Given the description of an element on the screen output the (x, y) to click on. 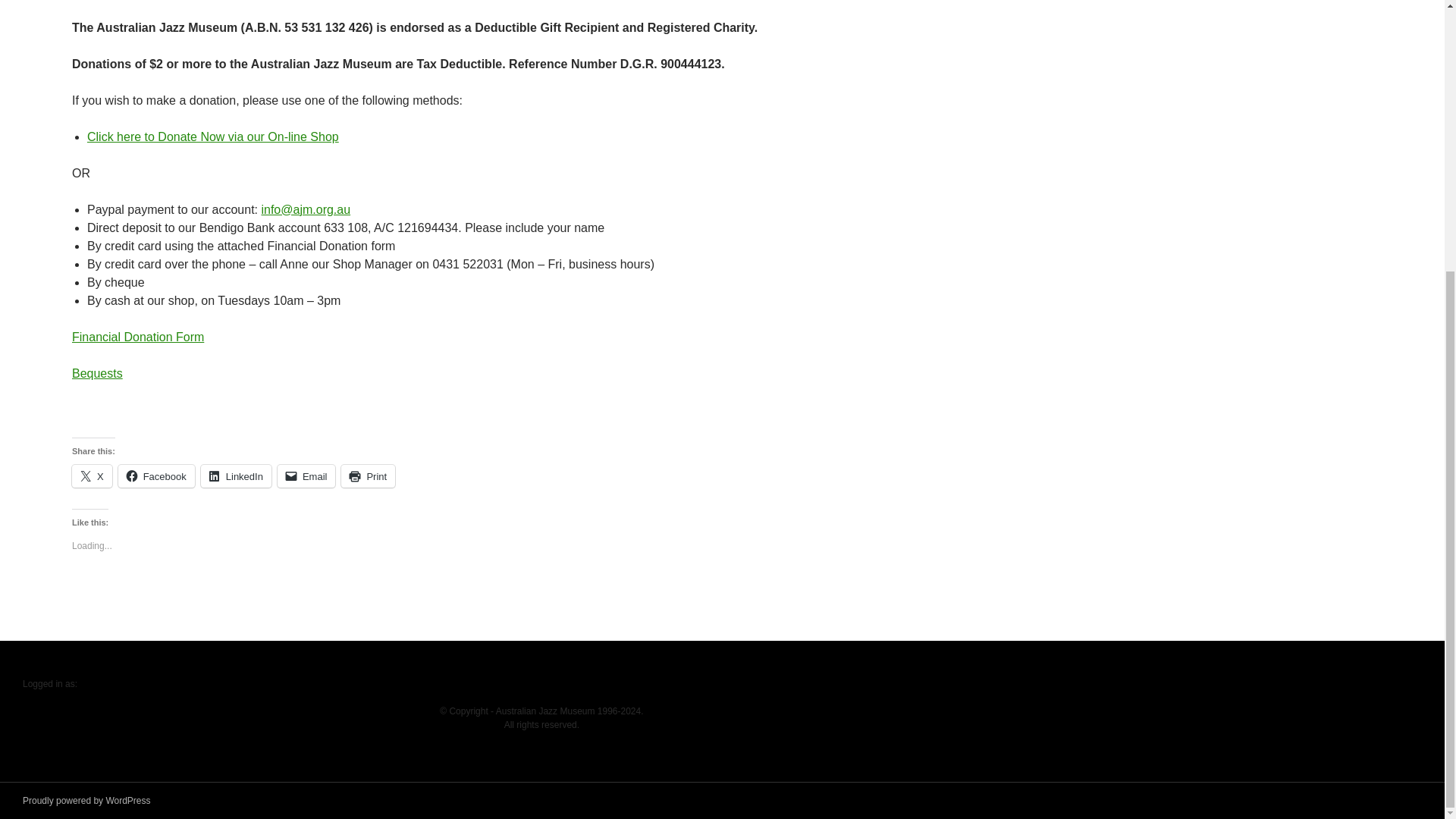
Click to share on X (91, 476)
Click to share on Facebook (156, 476)
Click to share on LinkedIn (235, 476)
Click to print (367, 476)
Click to email a link to a friend (307, 476)
